Given the description of an element on the screen output the (x, y) to click on. 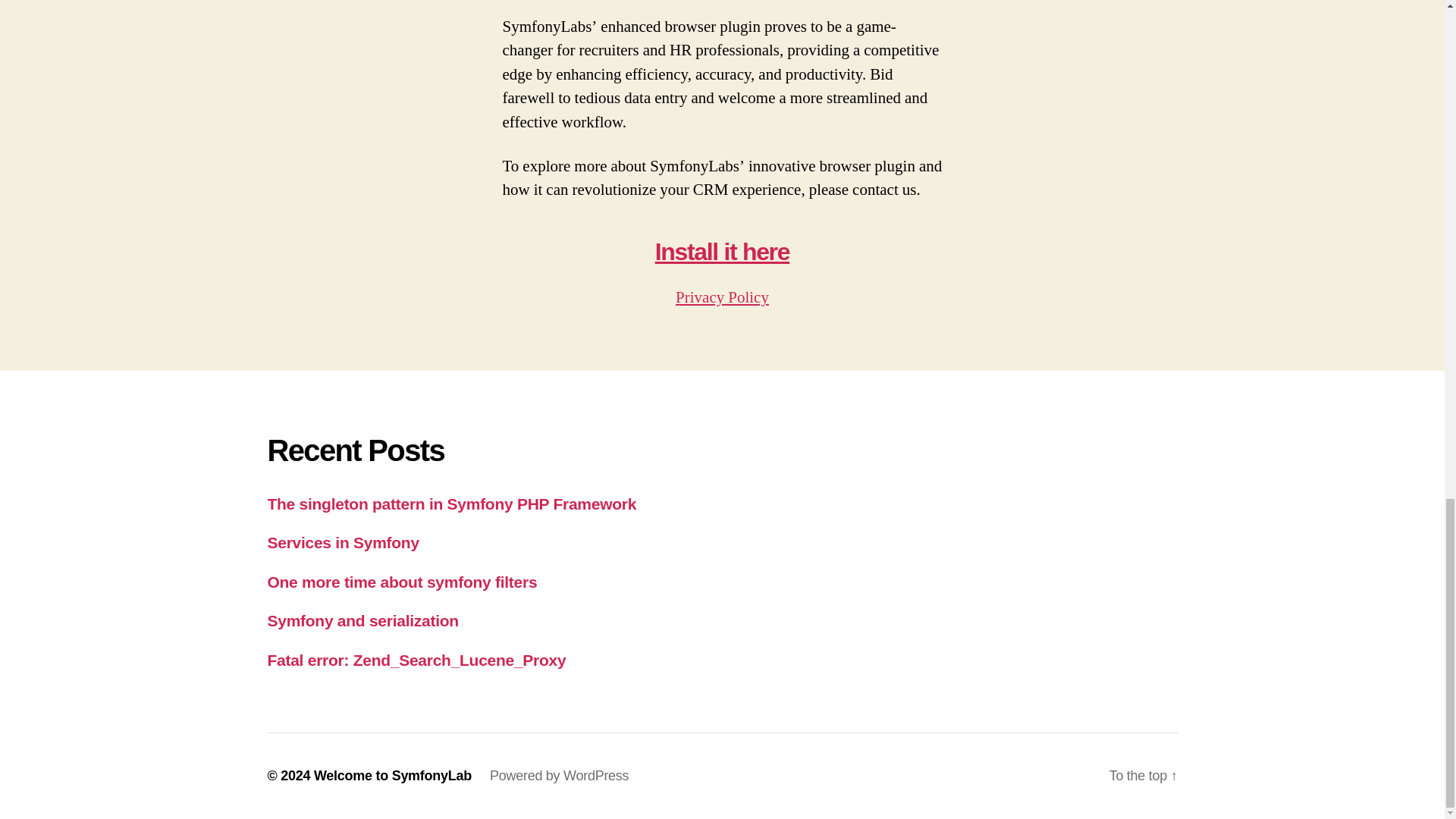
Symfony and serialization (362, 620)
Install it here (722, 251)
One more time about symfony filters (401, 581)
Install it here (722, 251)
Services in Symfony (342, 542)
Powered by WordPress (558, 775)
Welcome to SymfonyLab (392, 775)
Privacy Policy (721, 297)
The singleton pattern in Symfony PHP Framework (451, 503)
